Given the description of an element on the screen output the (x, y) to click on. 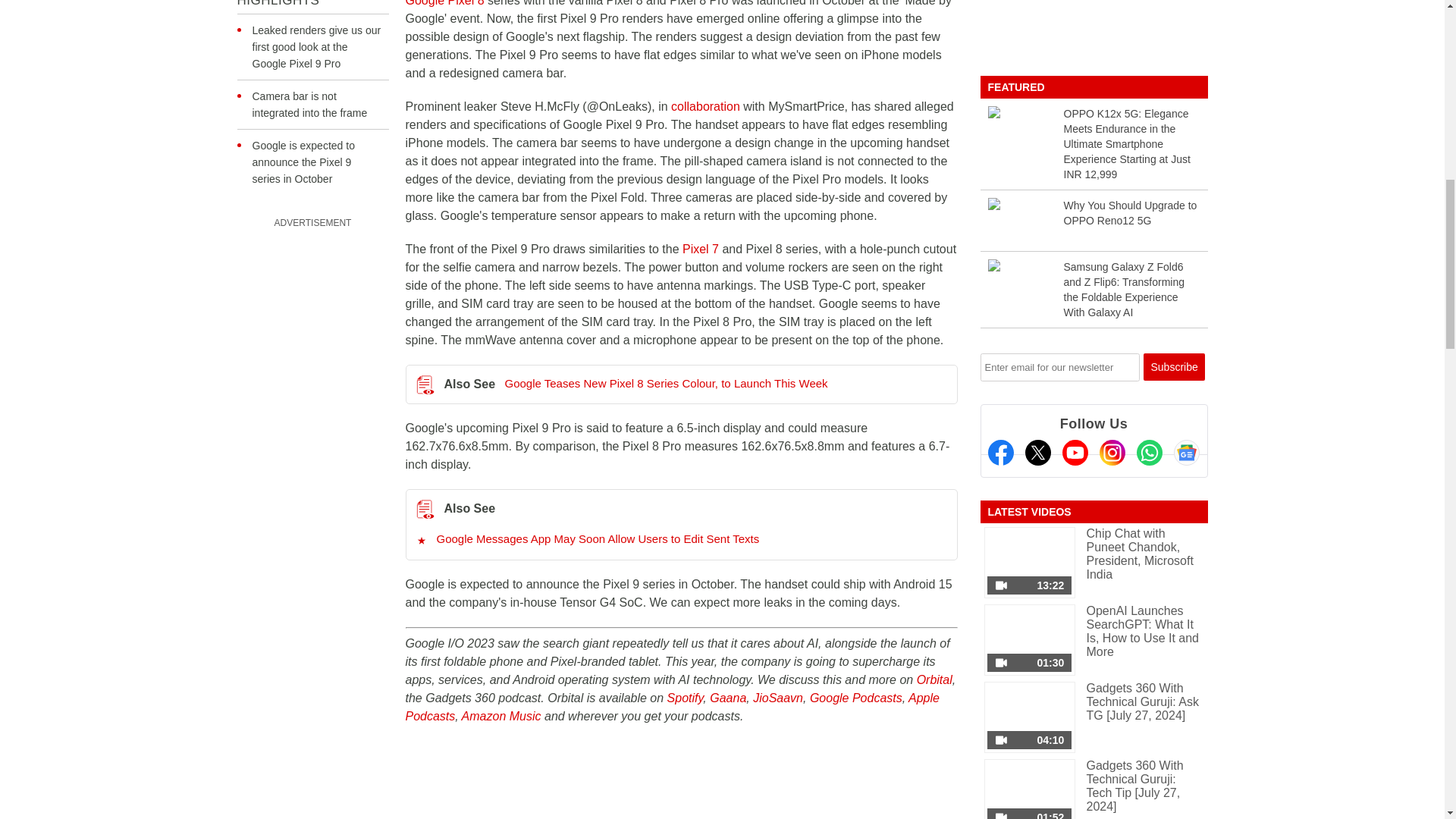
Subscribe (1173, 366)
